Given the description of an element on the screen output the (x, y) to click on. 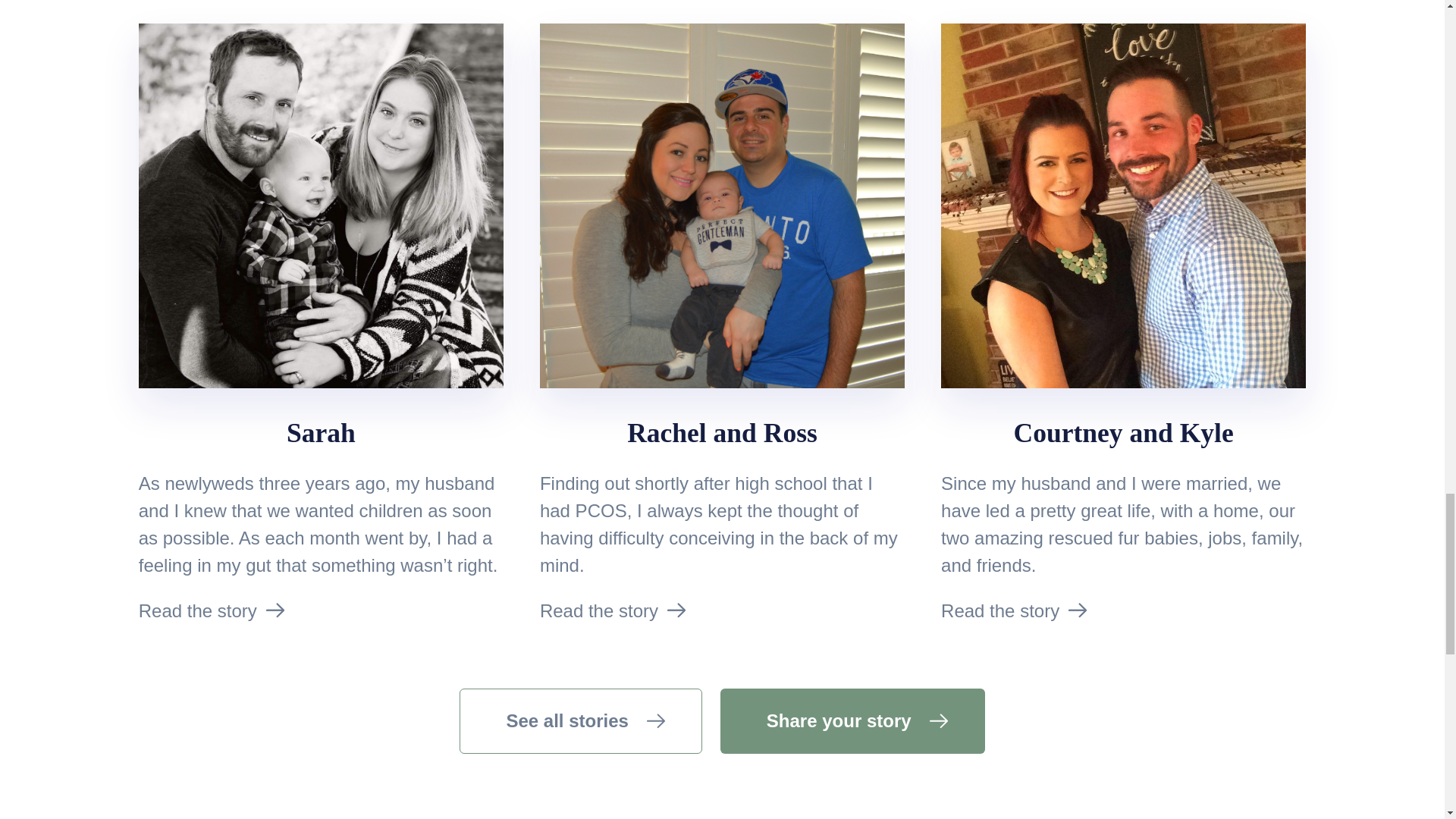
See all stories (580, 720)
Courtney and Kyle (1123, 432)
Read the story (599, 610)
Read the story (197, 610)
Sarah (320, 432)
Share your story (852, 720)
Read the story (999, 610)
Rachel and Ross (721, 432)
